Given the description of an element on the screen output the (x, y) to click on. 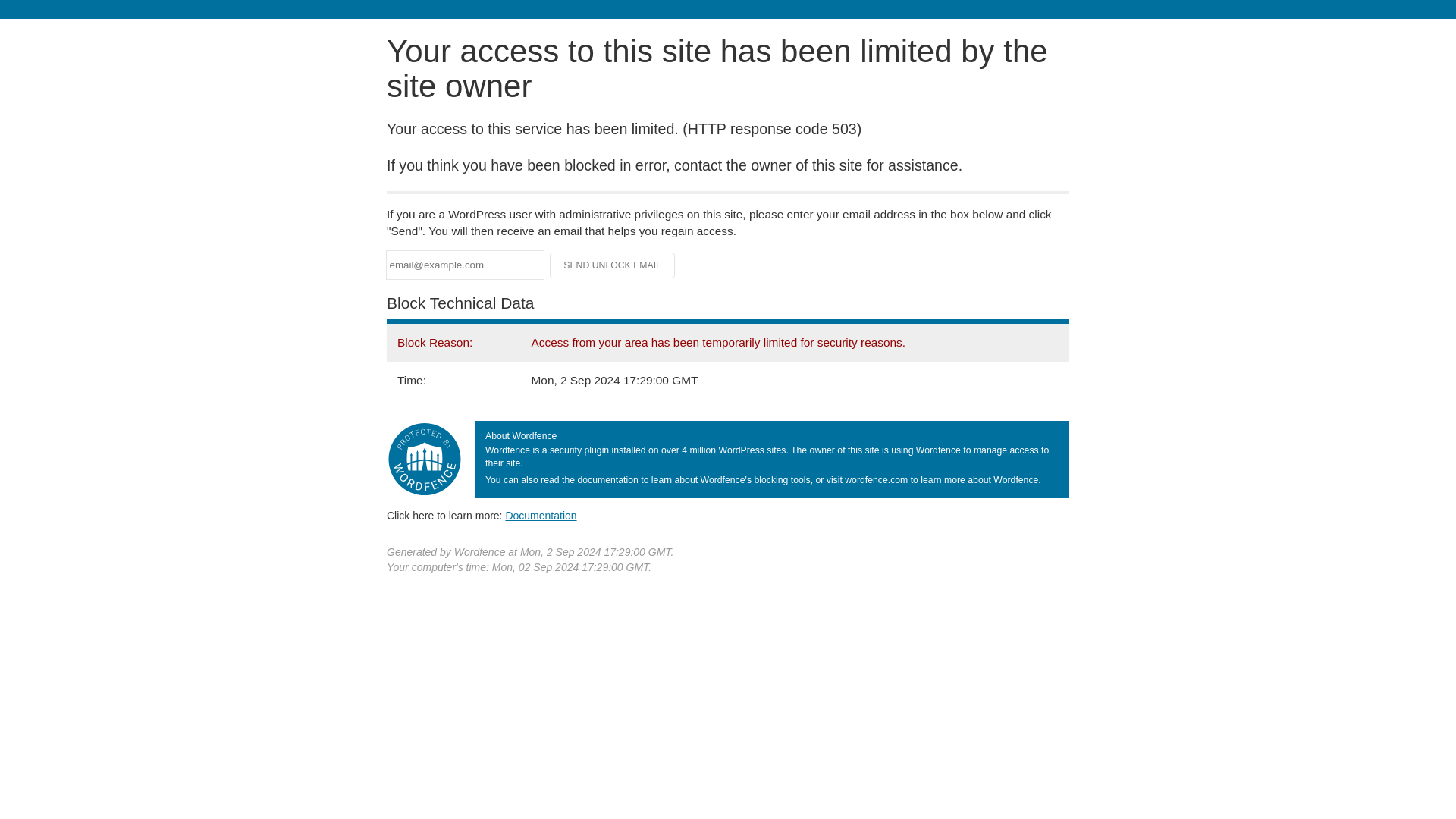
Send Unlock Email (612, 265)
Send Unlock Email (612, 265)
Documentation (540, 515)
